Given the description of an element on the screen output the (x, y) to click on. 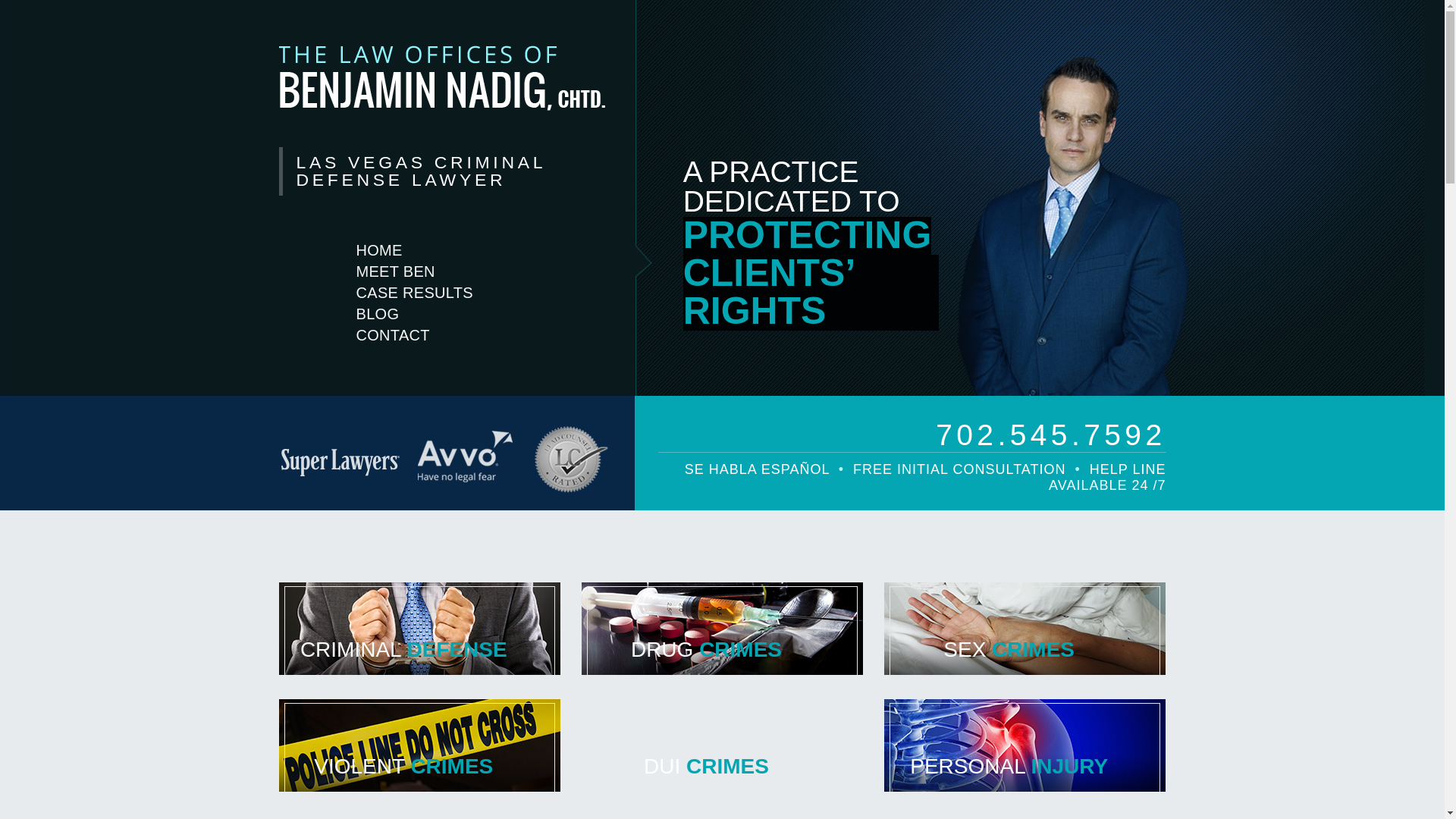
CONTACT (392, 334)
HOME (379, 250)
702.545.7592 (912, 423)
SEX CRIMES (1024, 628)
CRIMINAL DEFENSE (419, 628)
MEET BEN (395, 271)
DRUG CRIMES (721, 628)
BLOG (378, 313)
CASE RESULTS (414, 292)
